Given the description of an element on the screen output the (x, y) to click on. 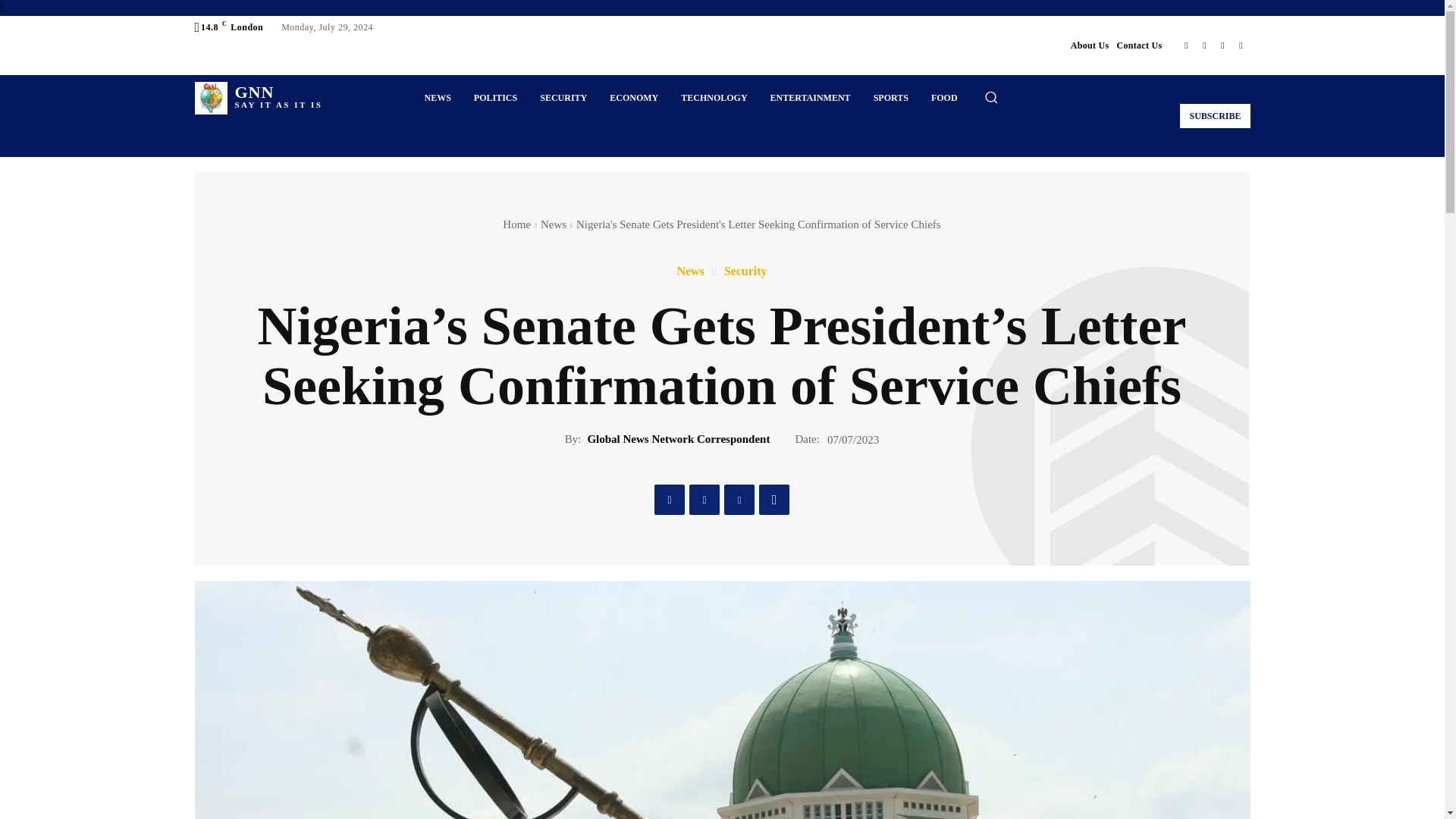
TECHNOLOGY (713, 97)
ENTERTAINMENT (809, 97)
Subscribe (1214, 115)
Instagram (1203, 45)
Twitter (1221, 45)
Youtube (257, 97)
SUBSCRIBE (1240, 45)
Contact Us (1214, 115)
About Us (1138, 45)
POLITICS (1089, 45)
SECURITY (495, 97)
Facebook (563, 97)
FOOD (1185, 45)
SPORTS (944, 97)
